Given the description of an element on the screen output the (x, y) to click on. 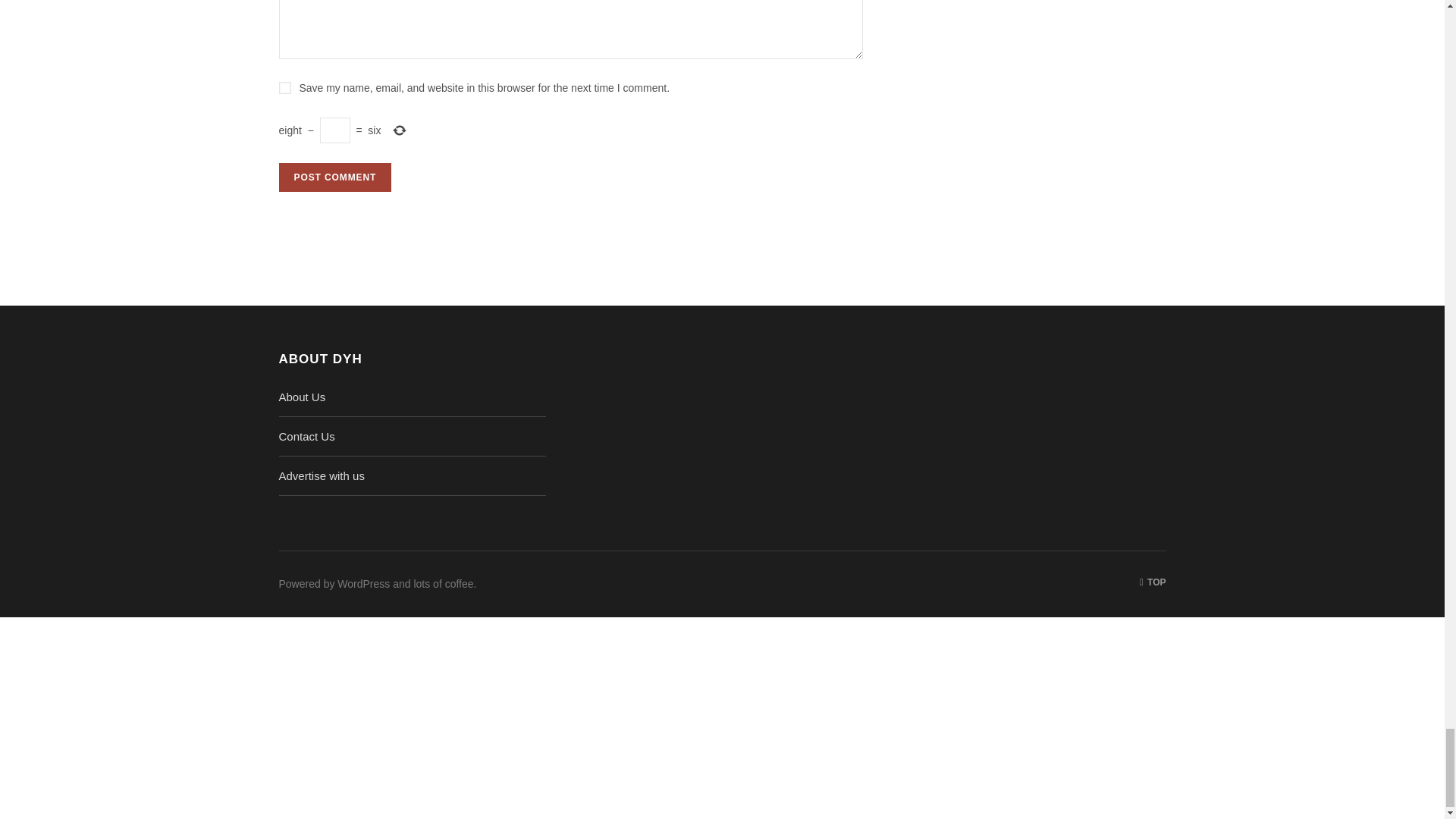
Post Comment (335, 176)
yes (285, 87)
